Given the description of an element on the screen output the (x, y) to click on. 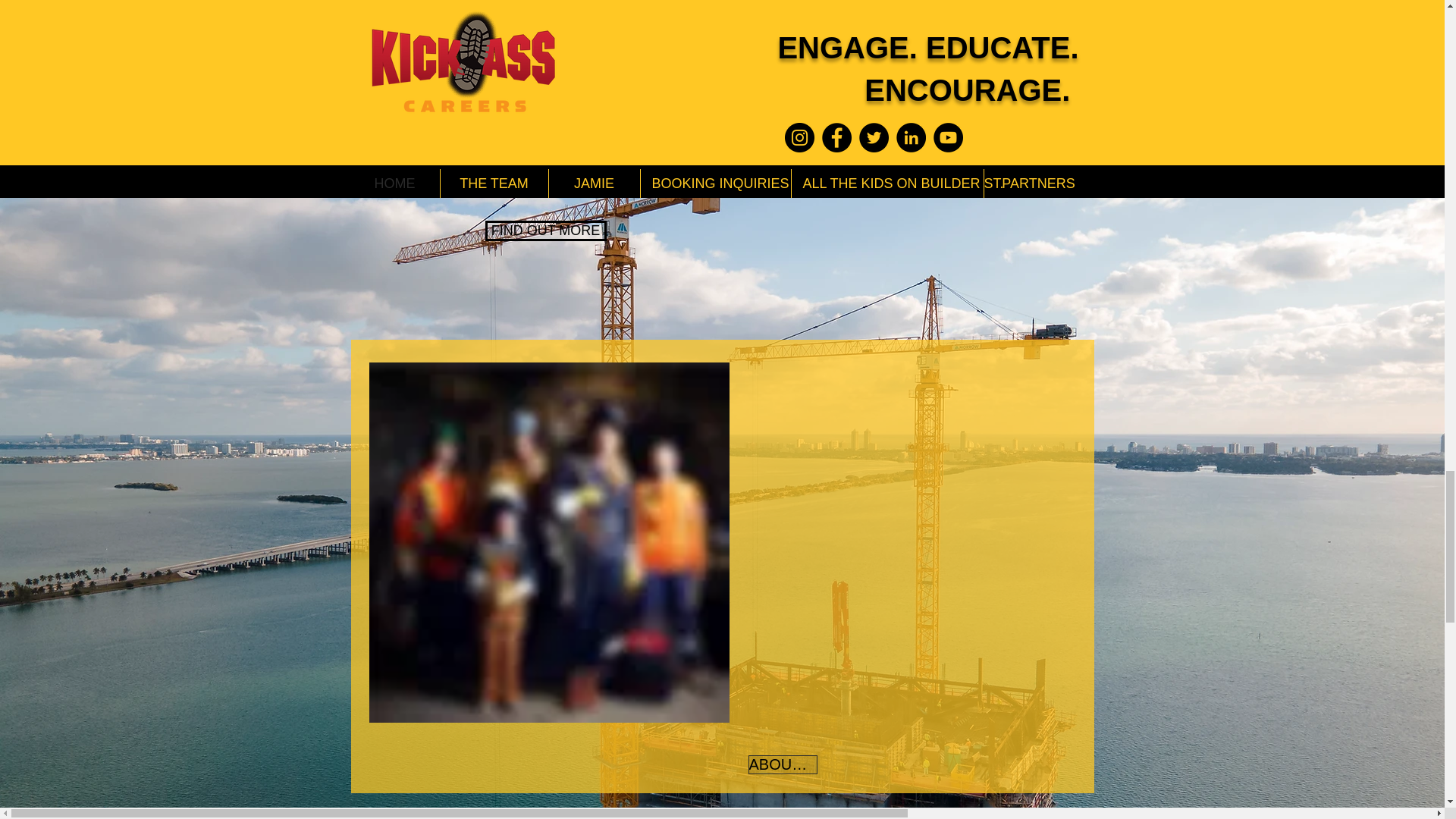
FIND OUT MORE (545, 230)
ABOUT US (782, 764)
